Given the description of an element on the screen output the (x, y) to click on. 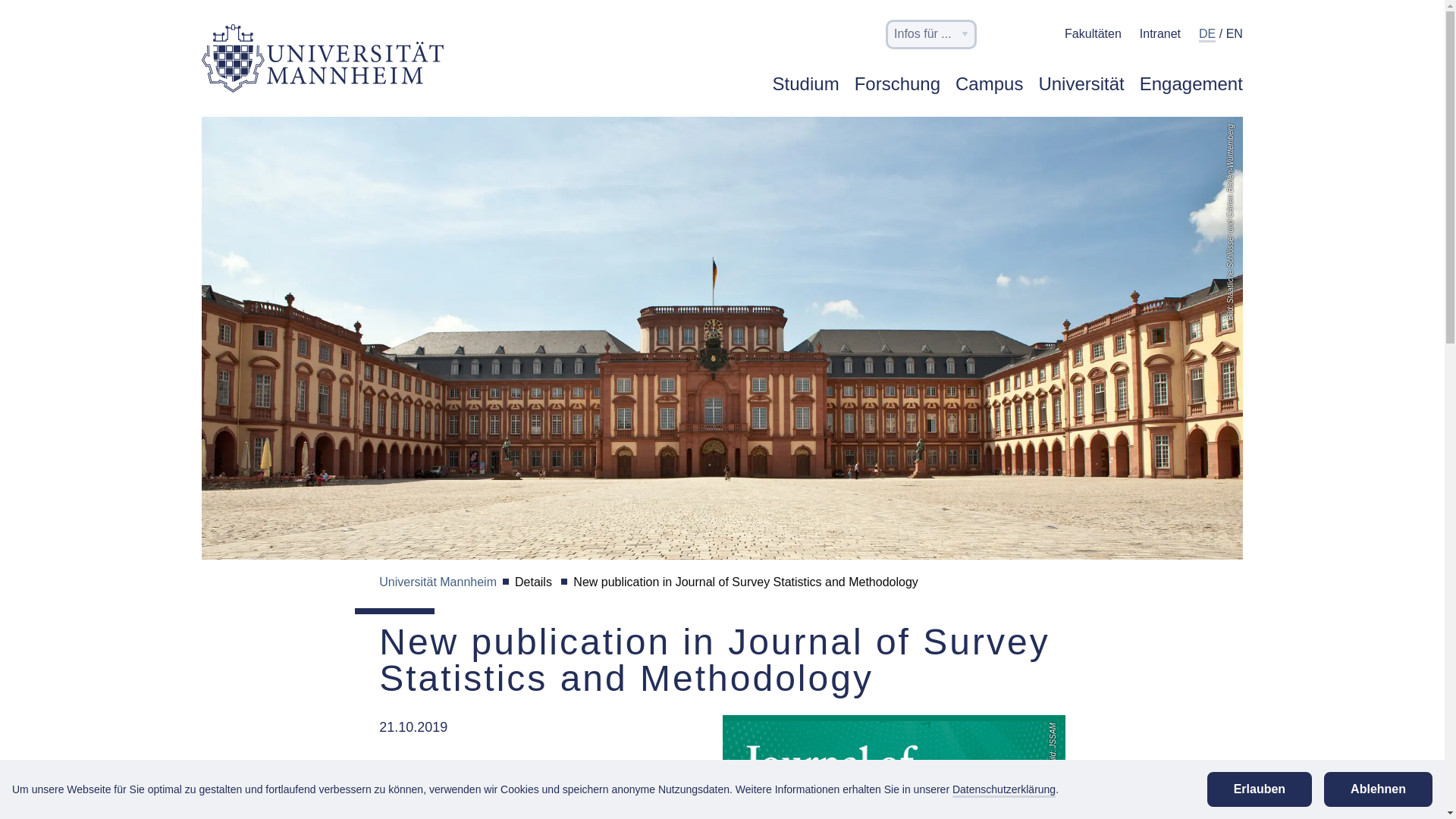
EN (1234, 34)
Barrierefreiheit (1036, 33)
Suchen (1002, 38)
Barrierefreiheit (1036, 38)
DE (1206, 34)
Suchen (1002, 34)
Studium (806, 92)
Intranet (1160, 33)
